Given the description of an element on the screen output the (x, y) to click on. 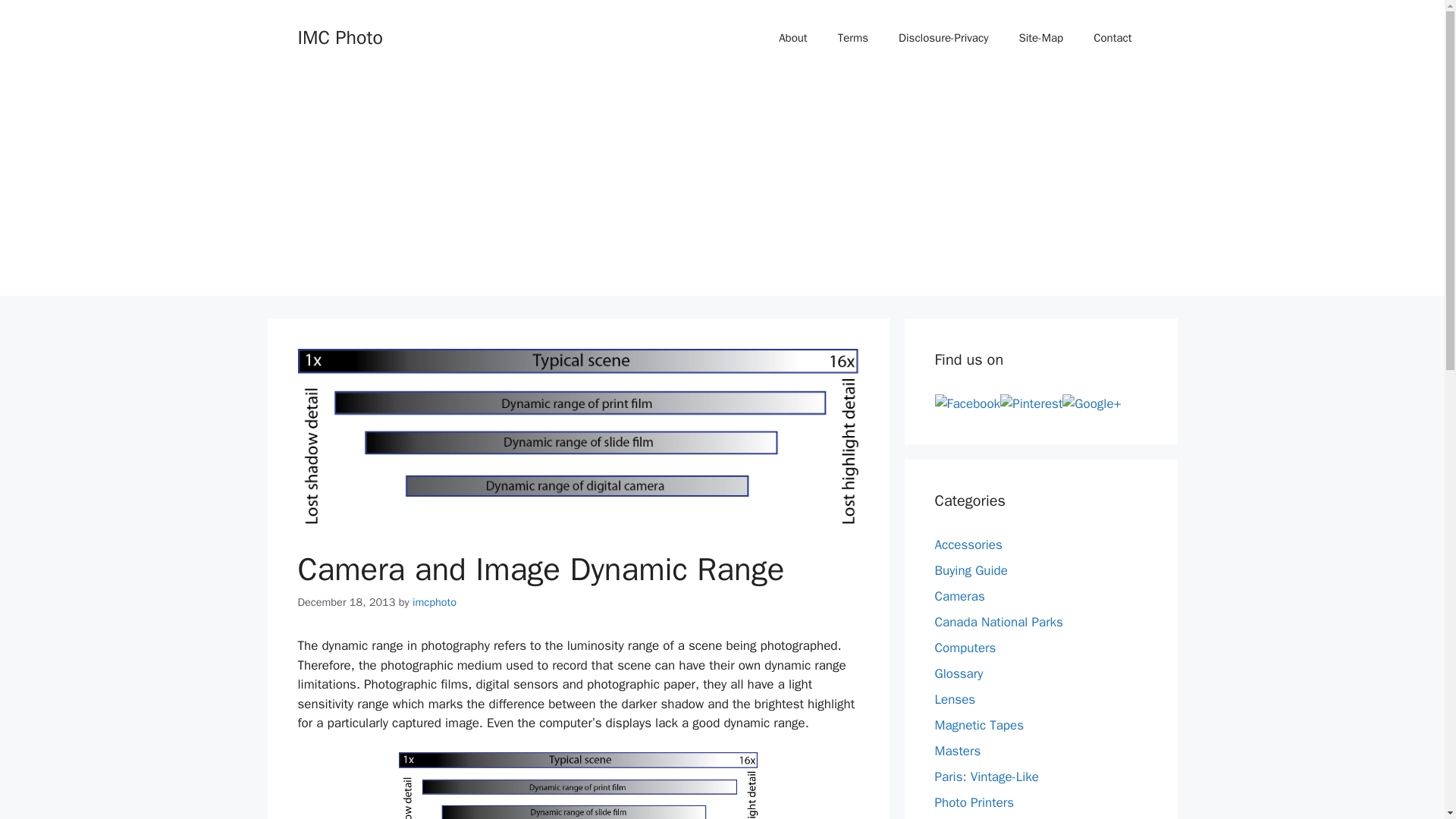
imcphoto (434, 602)
Masters (956, 750)
Paris: Vintage-Like (986, 776)
Glossary (958, 673)
About (792, 37)
Lenses (954, 699)
Site-Map (1040, 37)
Buying Guide (970, 570)
Magnetic Tapes (978, 725)
Contact (1112, 37)
View all posts by imcphoto (434, 602)
Accessories (967, 544)
Terms (852, 37)
Photo Printers (973, 802)
Disclosure-Privacy (943, 37)
